Given the description of an element on the screen output the (x, y) to click on. 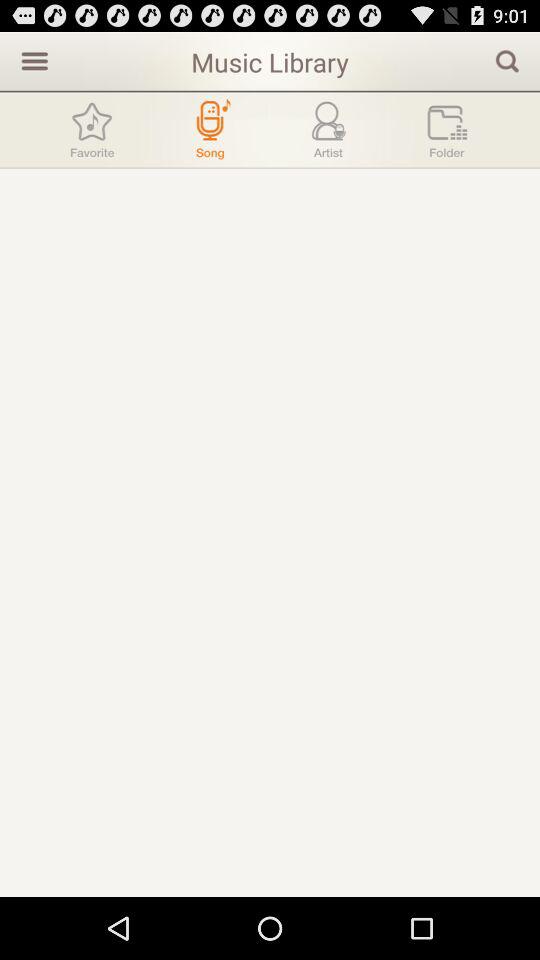
select a folder (447, 129)
